Given the description of an element on the screen output the (x, y) to click on. 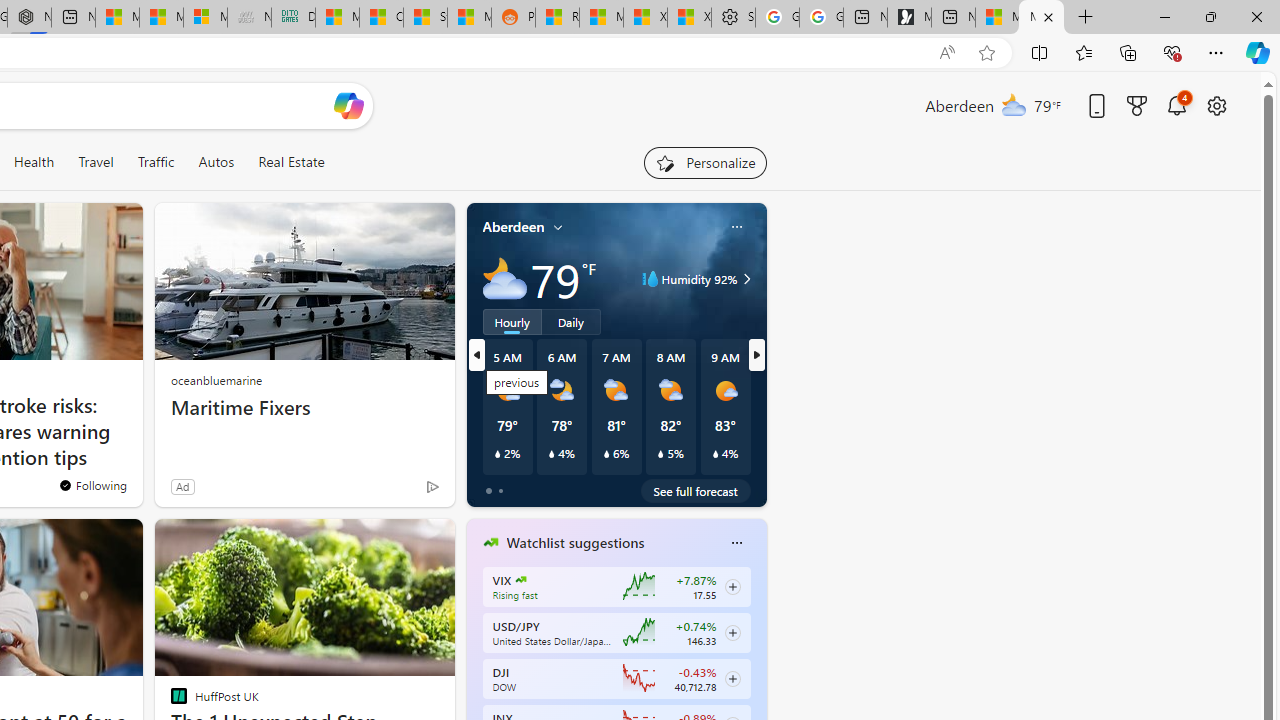
Real Estate (290, 162)
Traffic (155, 162)
Daily (571, 321)
